Given the description of an element on the screen output the (x, y) to click on. 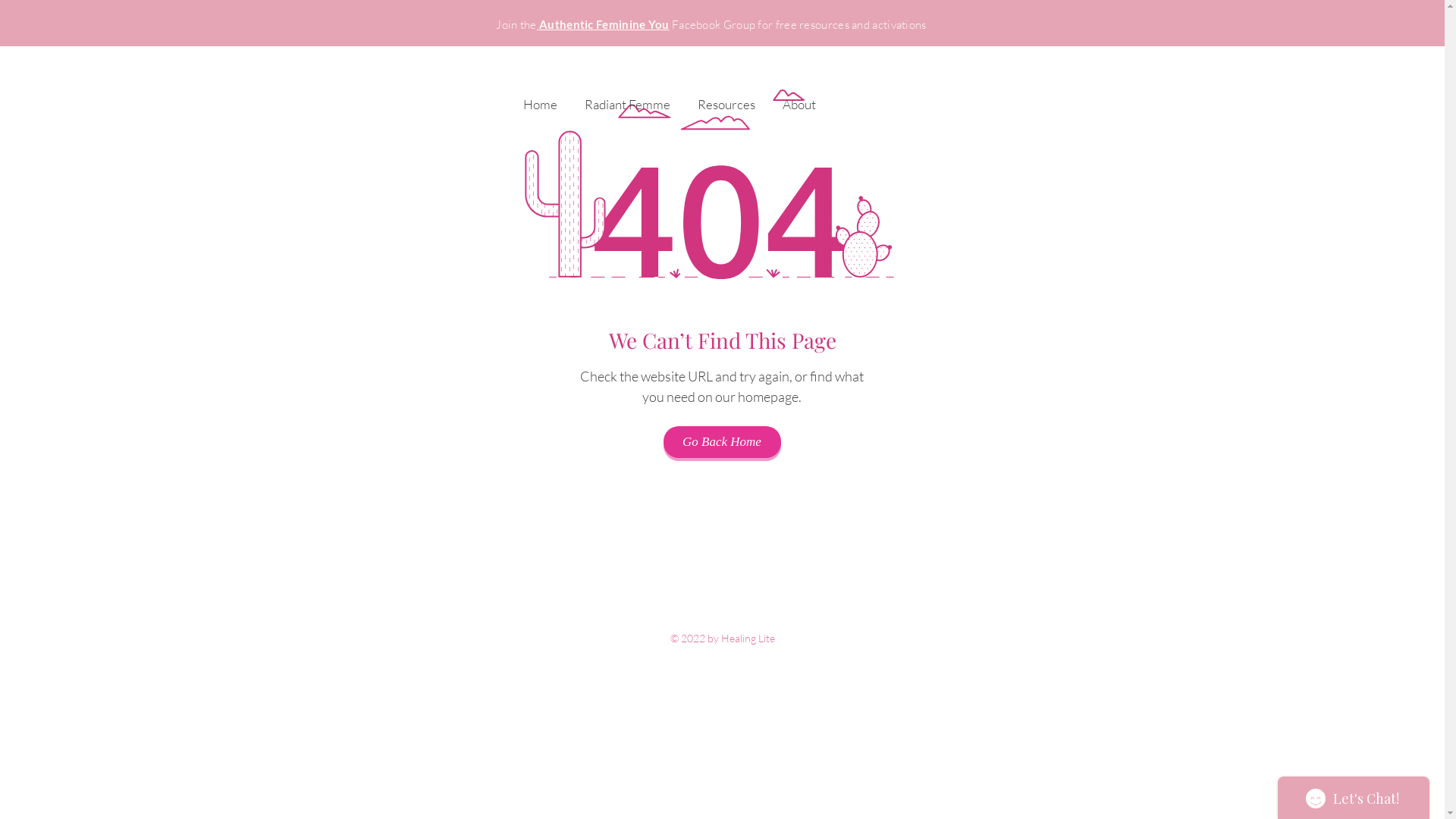
Radiant Femme Element type: text (626, 97)
Authentic Feminine You Element type: text (602, 24)
About Element type: text (798, 97)
Resources Element type: text (726, 97)
& Element type: text (377, 30)
Home Element type: text (540, 97)
Go Back Home Element type: text (721, 442)
